Given the description of an element on the screen output the (x, y) to click on. 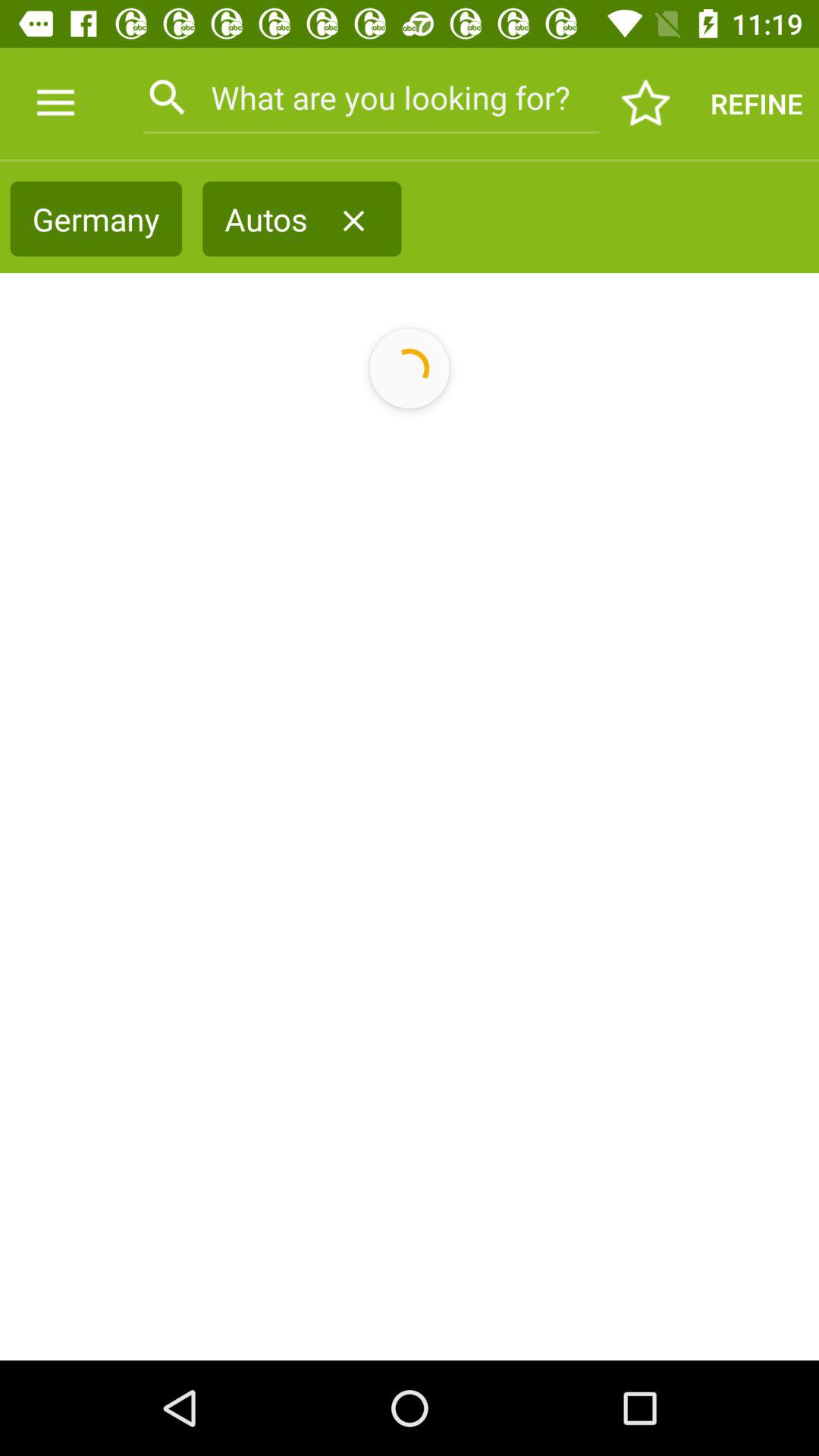
open icon to the right of the autos icon (353, 220)
